Given the description of an element on the screen output the (x, y) to click on. 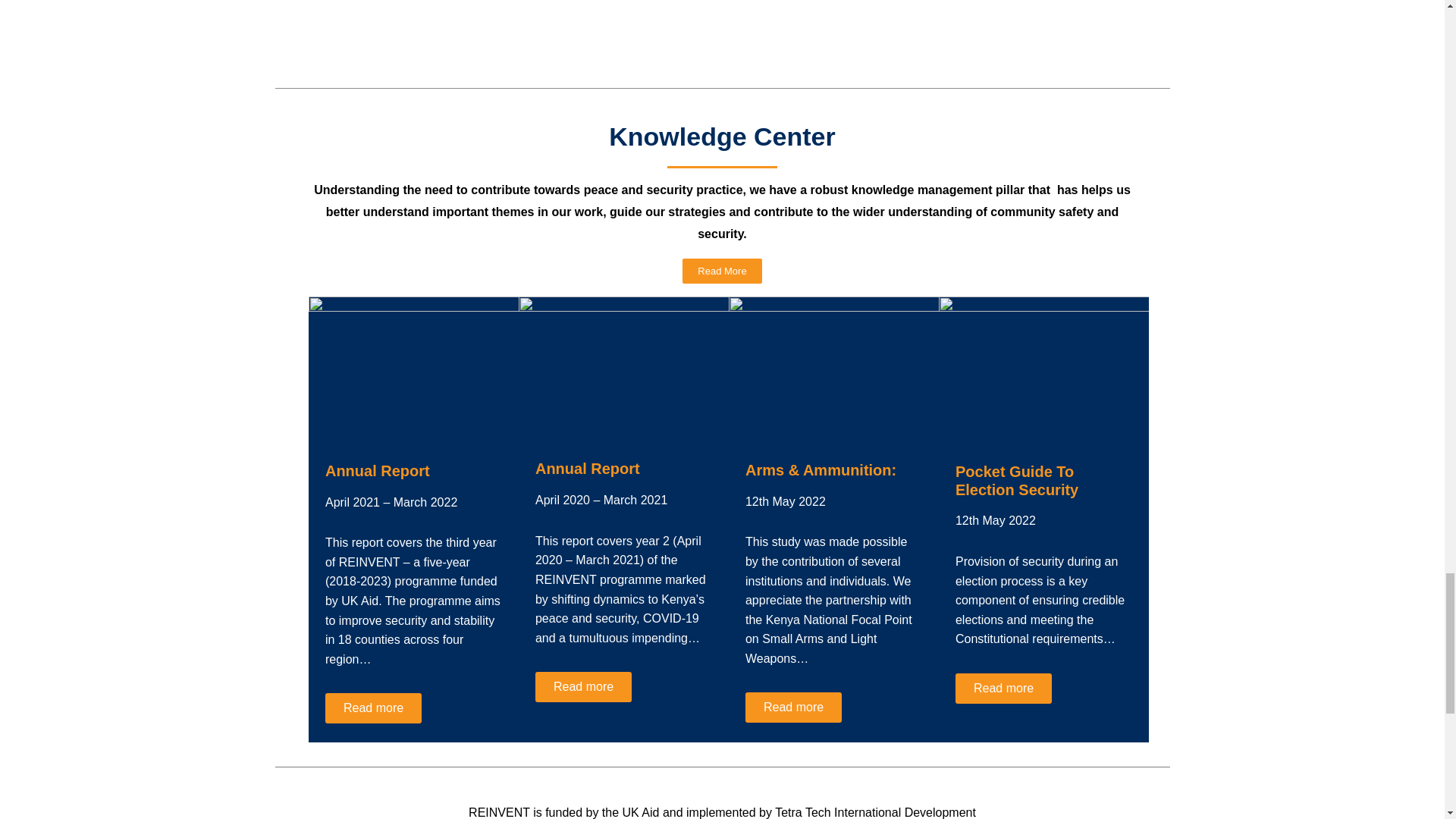
Knowledge Center (721, 136)
